Given the description of an element on the screen output the (x, y) to click on. 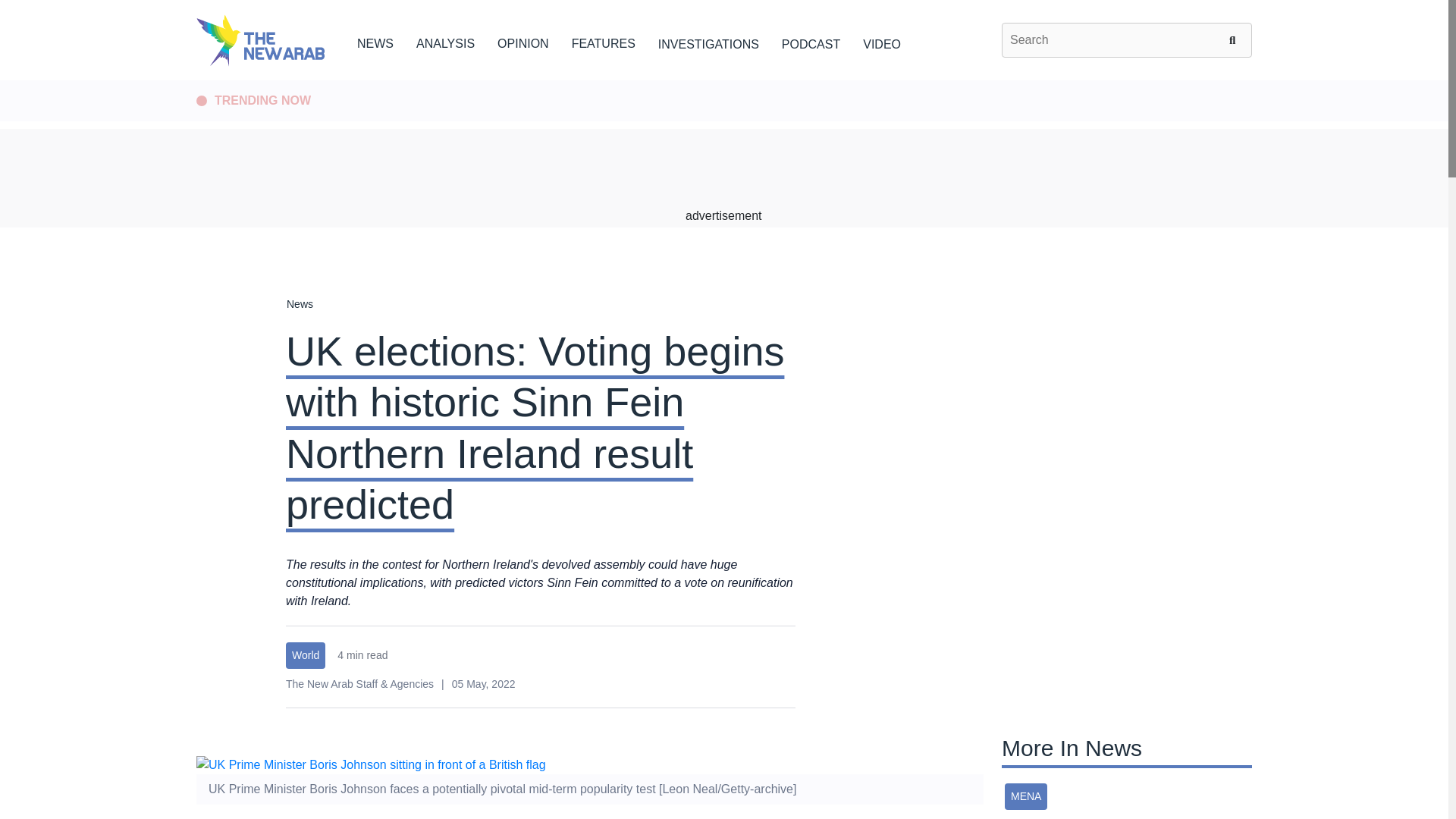
Skip to main content (724, 81)
OPINION (523, 41)
Search (1234, 39)
NEWS (375, 41)
ANALYSIS (445, 41)
